Given the description of an element on the screen output the (x, y) to click on. 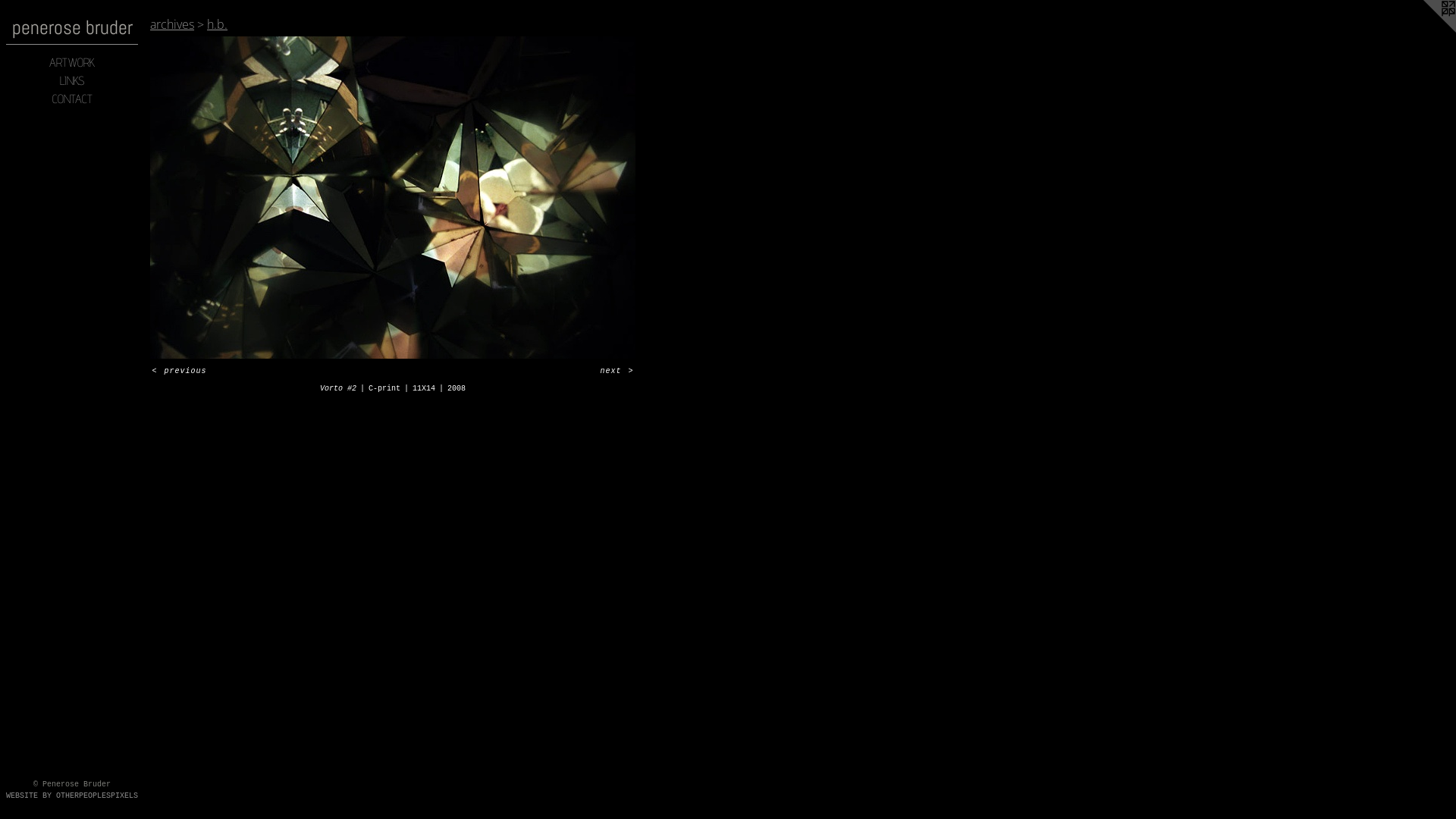
archives Element type: text (172, 23)
next > Element type: text (616, 371)
Vorto #2 Element type: hover (392, 197)
ARTWORK Element type: text (72, 62)
CONTACT Element type: text (72, 99)
< previous Element type: text (179, 371)
LINKS Element type: text (72, 81)
h.b. Element type: text (217, 23)
penerose bruder Element type: text (72, 27)
WEBSITE BY OTHERPEOPLESPIXELS Element type: text (72, 795)
